Given the description of an element on the screen output the (x, y) to click on. 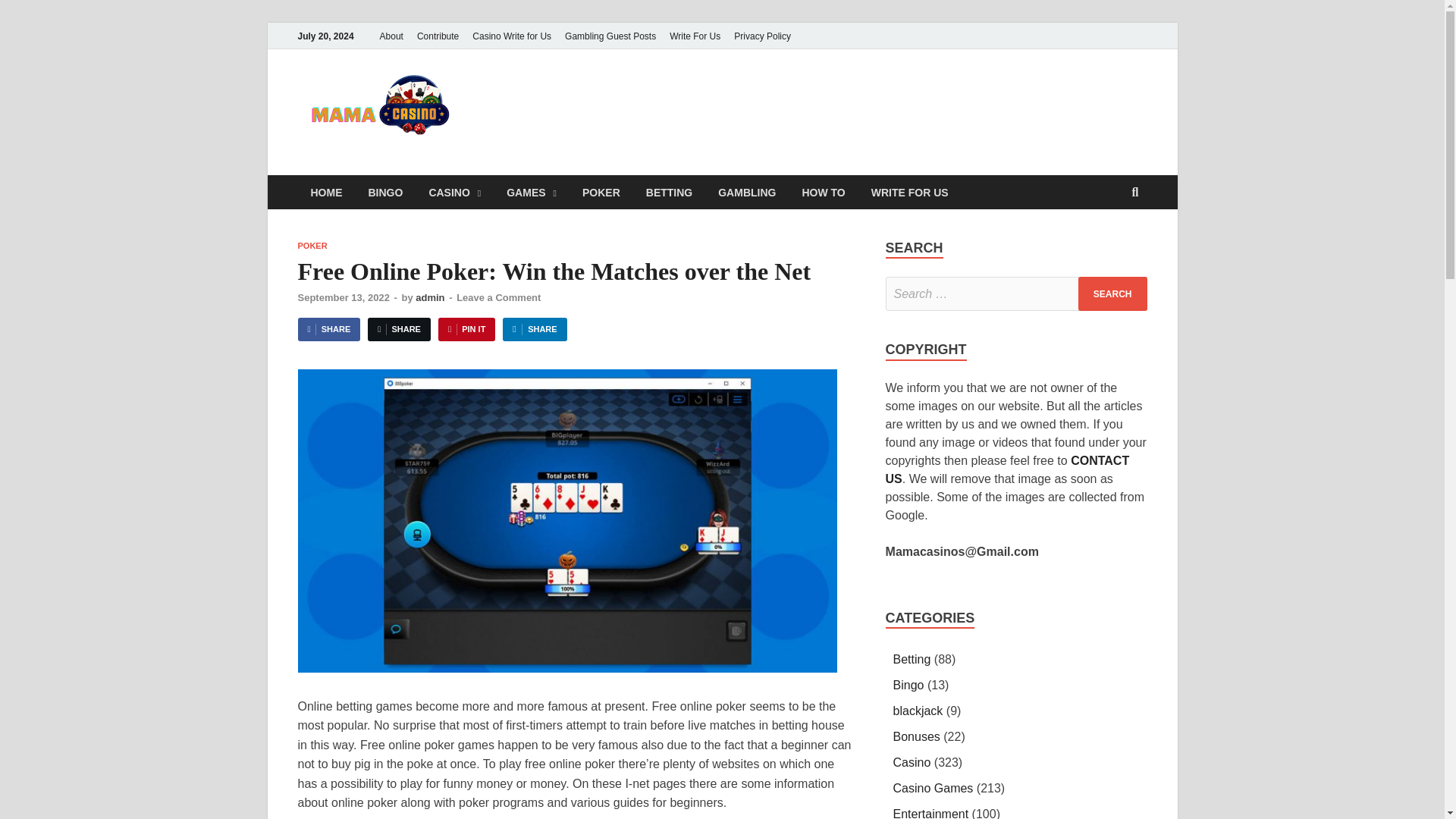
CASINO (453, 192)
September 13, 2022 (342, 297)
Casino Write for Us (511, 35)
SHARE (328, 329)
BETTING (668, 192)
POKER (311, 245)
admin (429, 297)
Contribute (437, 35)
POKER (601, 192)
Search (1112, 293)
SHARE (534, 329)
HOME (326, 192)
About (391, 35)
SHARE (399, 329)
WRITE FOR US (909, 192)
